Given the description of an element on the screen output the (x, y) to click on. 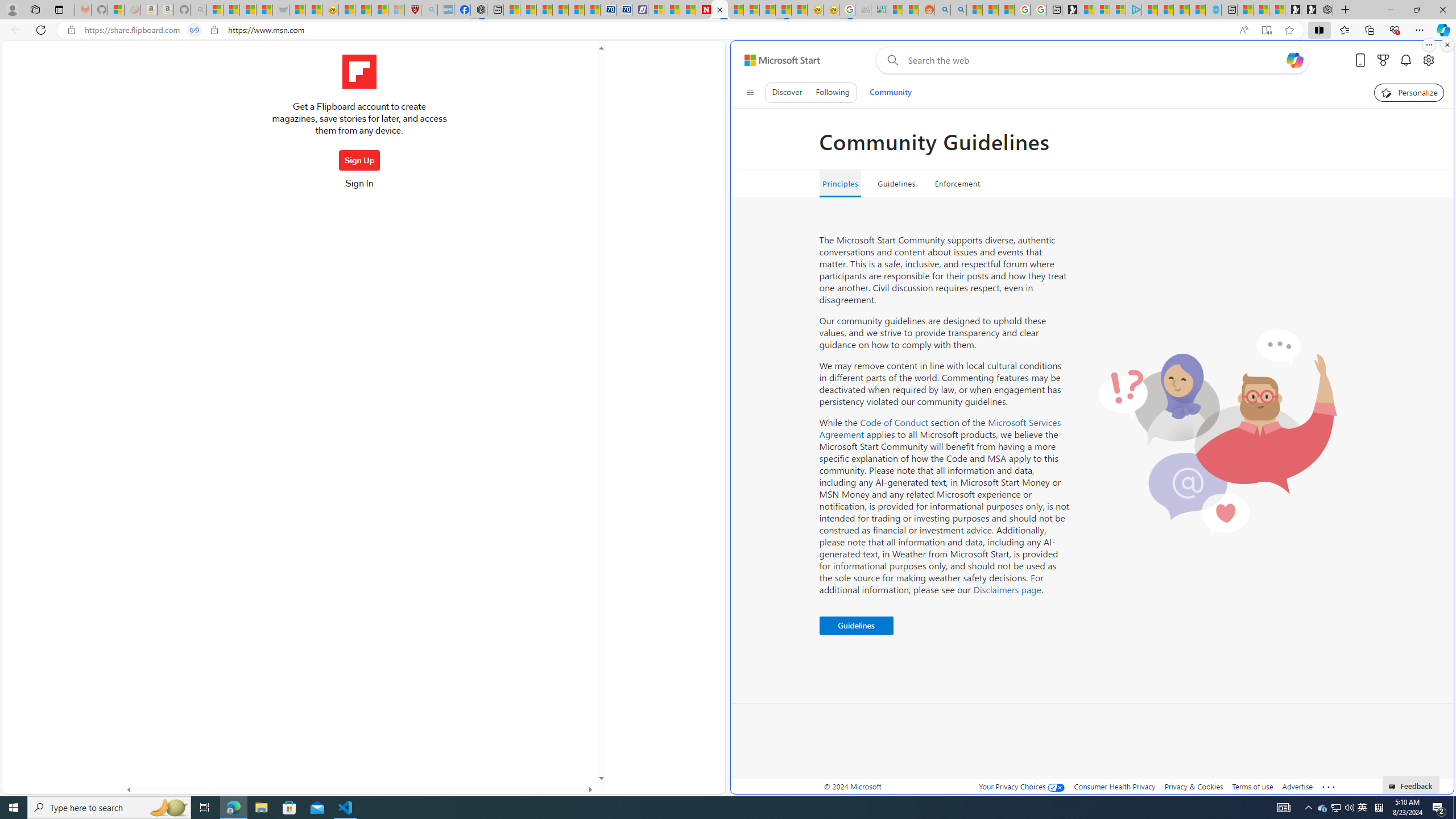
Terms of use (1252, 786)
NCL Adult Asthma Inhaler Choice Guideline - Sleeping (445, 9)
Utah sues federal government - Search (958, 9)
Trusted Community Engagement and Contributions | Guidelines (719, 9)
Robert H. Shmerling, MD - Harvard Health (413, 9)
Your Privacy Choices (1021, 785)
MSN (783, 9)
Class: control icon-only (749, 92)
